Given the description of an element on the screen output the (x, y) to click on. 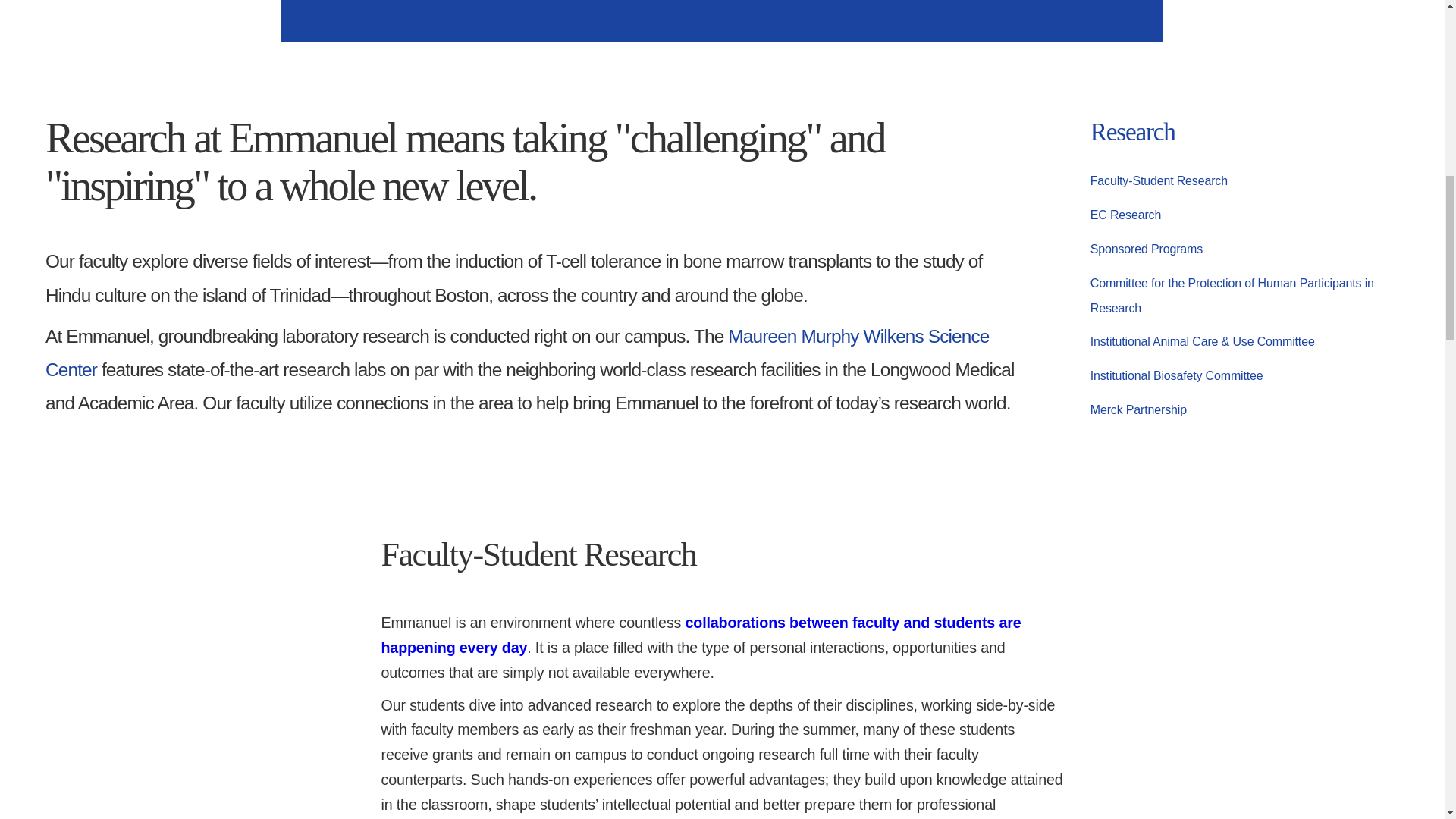
EC Research (1125, 211)
Institutional Biosafety Committee at Emmanuel College (1176, 372)
Sponsored Programs at Emmanuel College (1146, 245)
Research at Emmanuel College (1132, 131)
Faculty-Student Research at Emmanuel College (1158, 177)
Wilkens Science Center (517, 352)
Faculty-Student Research (700, 635)
